Given the description of an element on the screen output the (x, y) to click on. 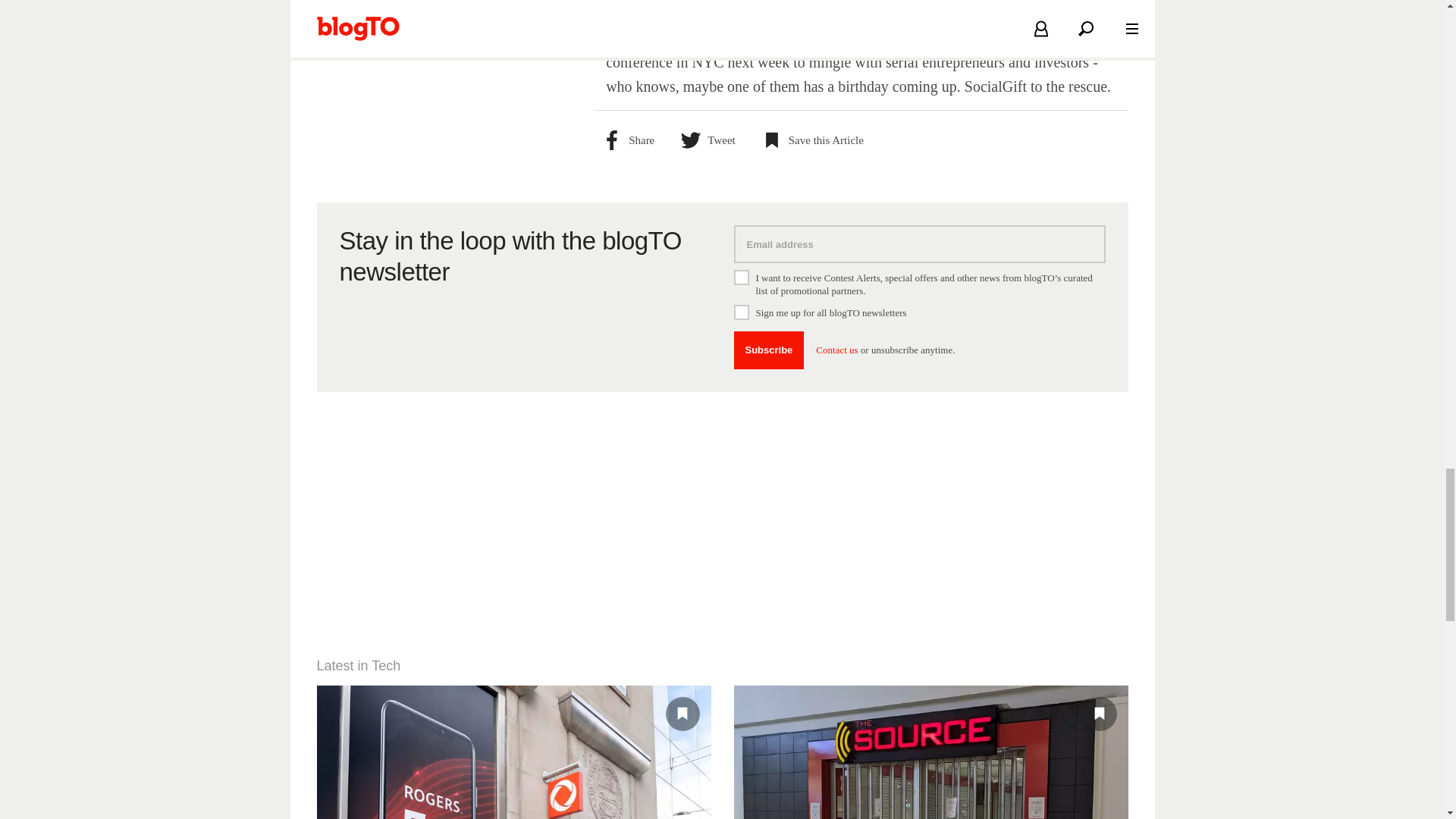
Subscribe (769, 350)
